Given the description of an element on the screen output the (x, y) to click on. 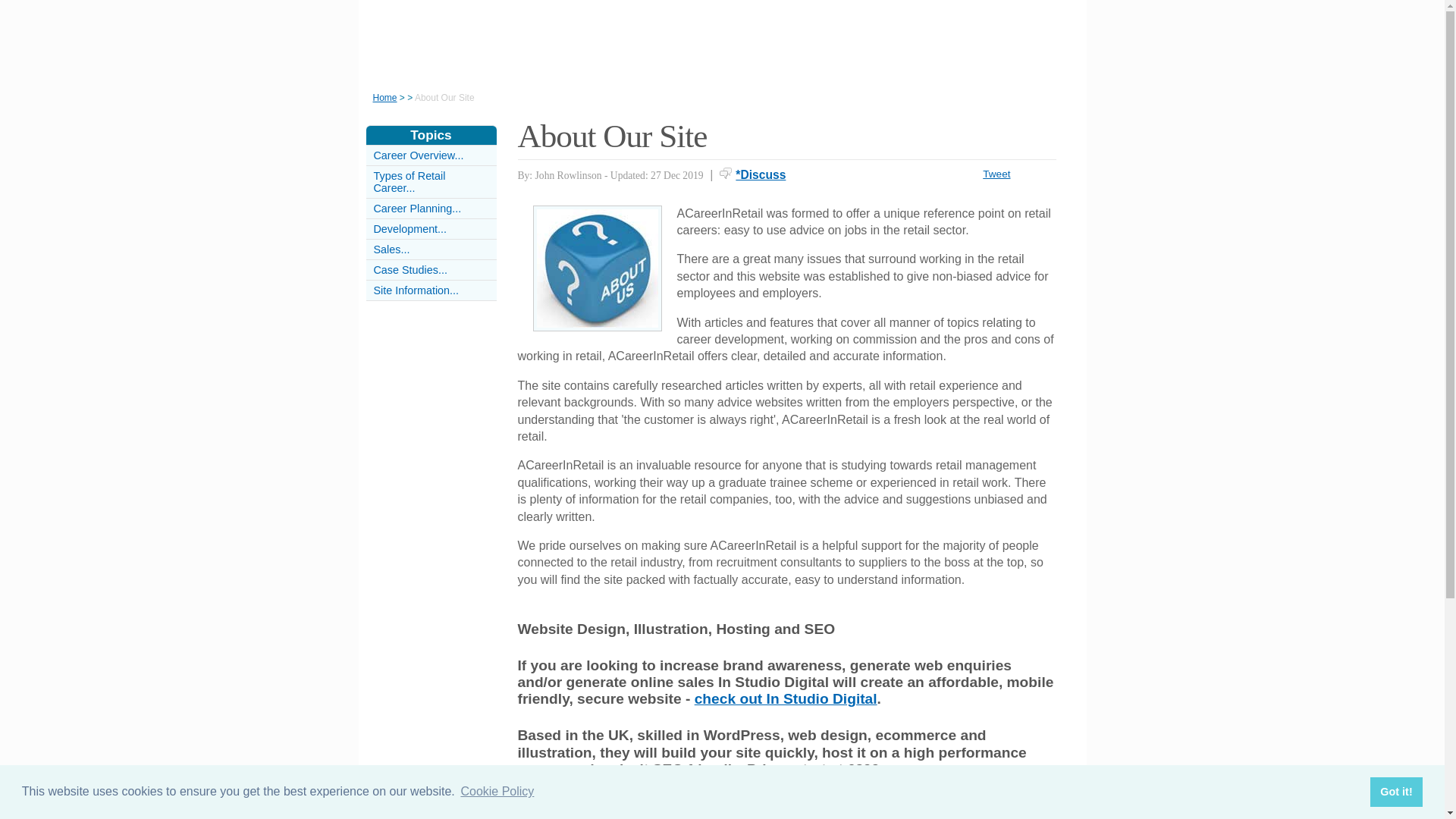
Career Overview... (417, 155)
Development... (409, 228)
Site Information... (415, 290)
Tweet (996, 173)
Sales... (390, 249)
Career Planning... (416, 208)
Case Studies... (409, 269)
Cookie Policy (496, 791)
Types of Retail Career... (408, 181)
Next Page (992, 790)
Home (384, 97)
Previous Page (578, 790)
check out In Studio Digital (785, 698)
Got it! (1396, 791)
